Given the description of an element on the screen output the (x, y) to click on. 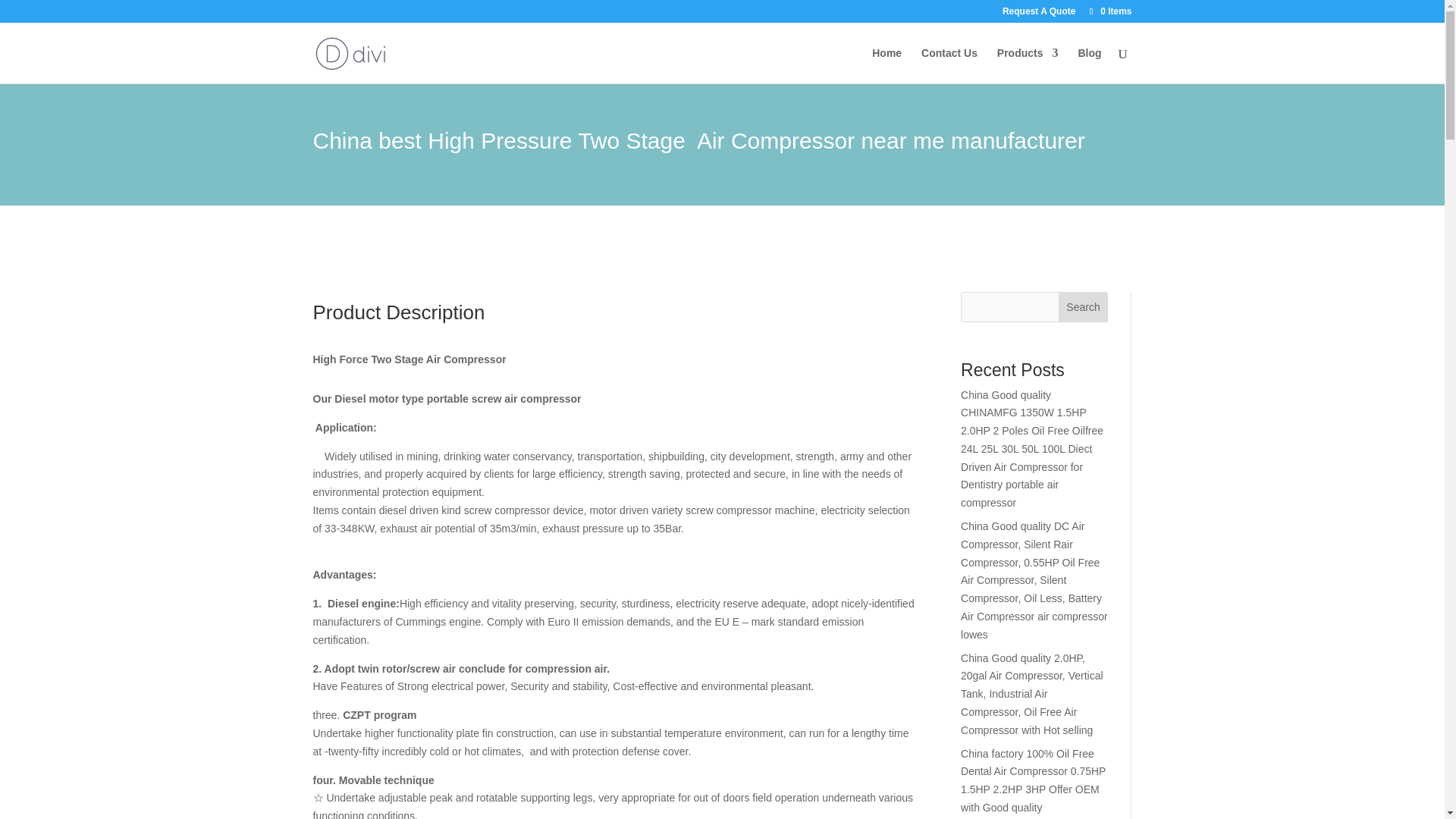
Products (1027, 65)
Request A Quote (1039, 14)
Contact Us (948, 65)
0 Items (1108, 10)
Search (1083, 306)
